Given the description of an element on the screen output the (x, y) to click on. 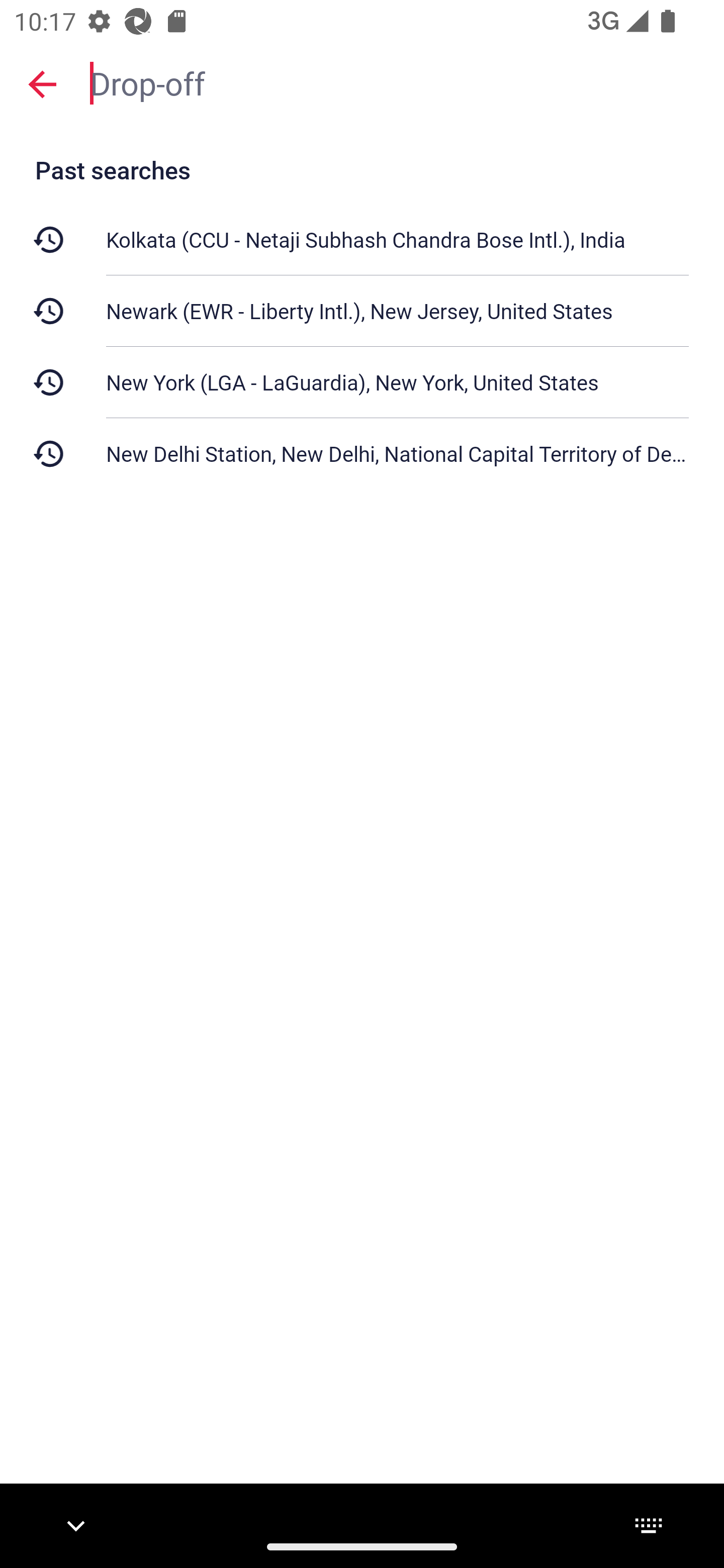
Drop-off,  (397, 82)
Close search screen (41, 83)
